Given the description of an element on the screen output the (x, y) to click on. 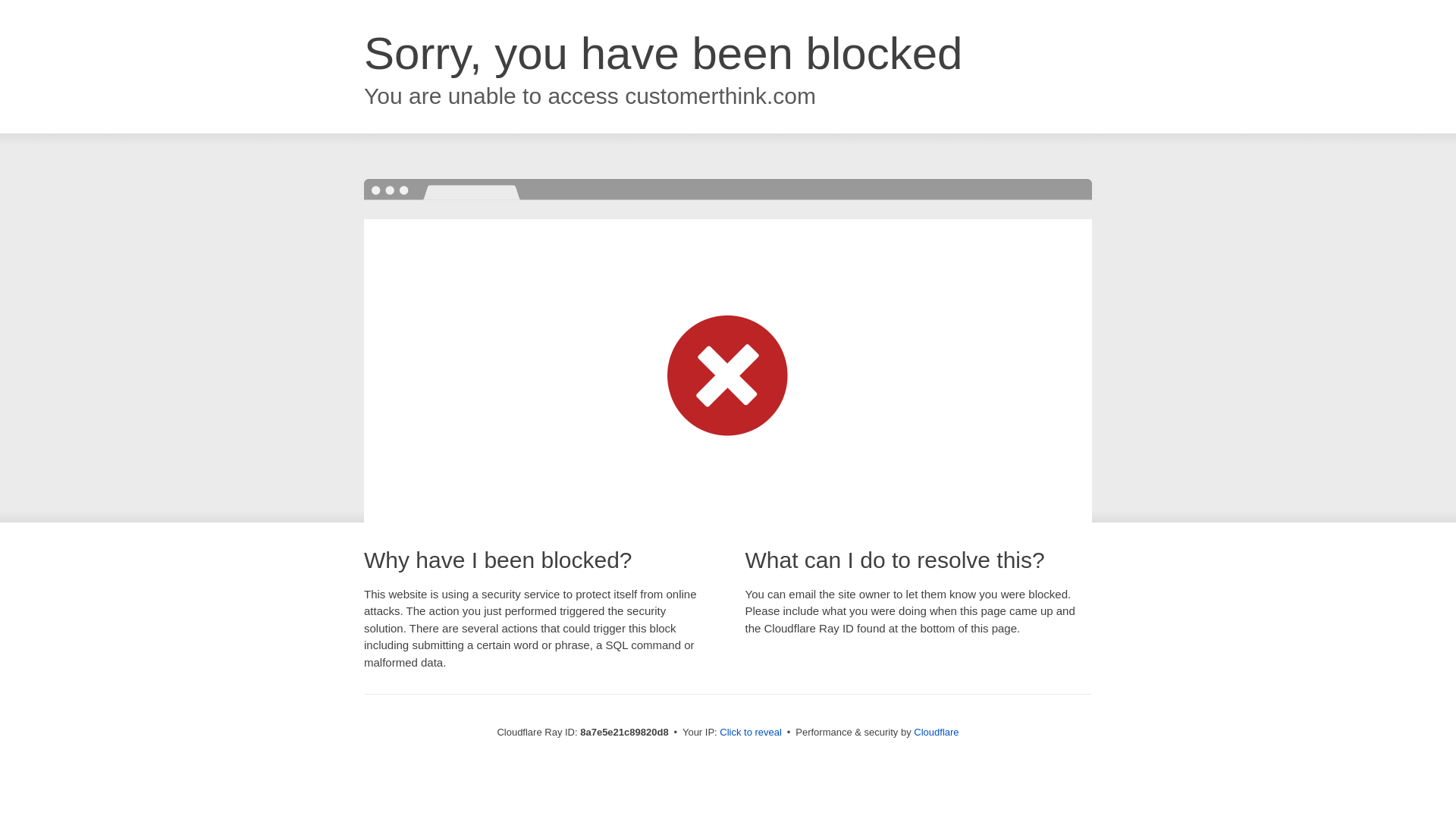
Cloudflare (936, 731)
Click to reveal (750, 732)
